Given the description of an element on the screen output the (x, y) to click on. 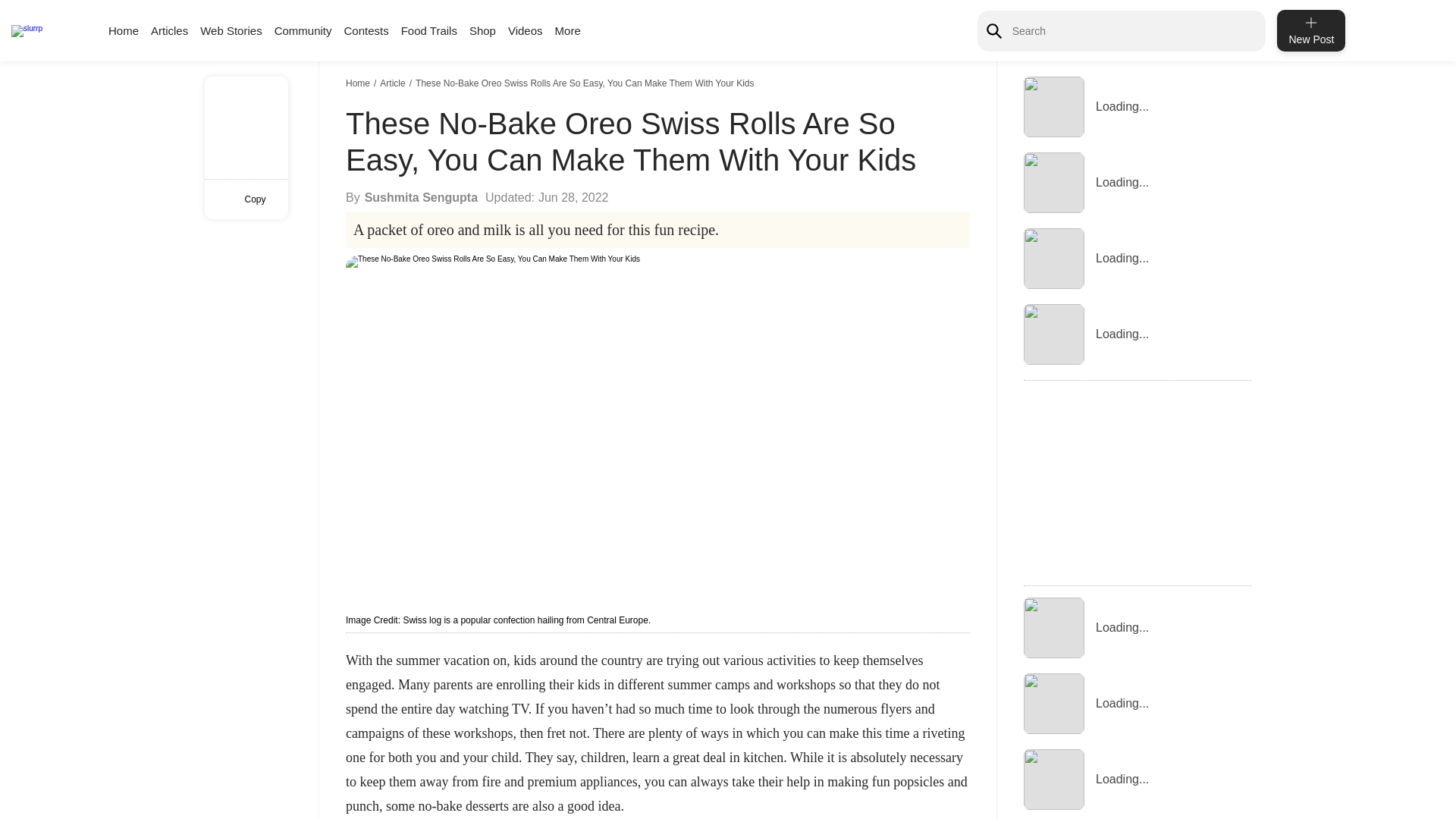
Web Stories (231, 30)
New Post (1310, 30)
Article (394, 82)
Videos (525, 30)
Shop (482, 30)
Community (303, 30)
Food Trails (429, 30)
Home (360, 82)
Home (122, 30)
Articles (169, 30)
Contests (365, 30)
